Given the description of an element on the screen output the (x, y) to click on. 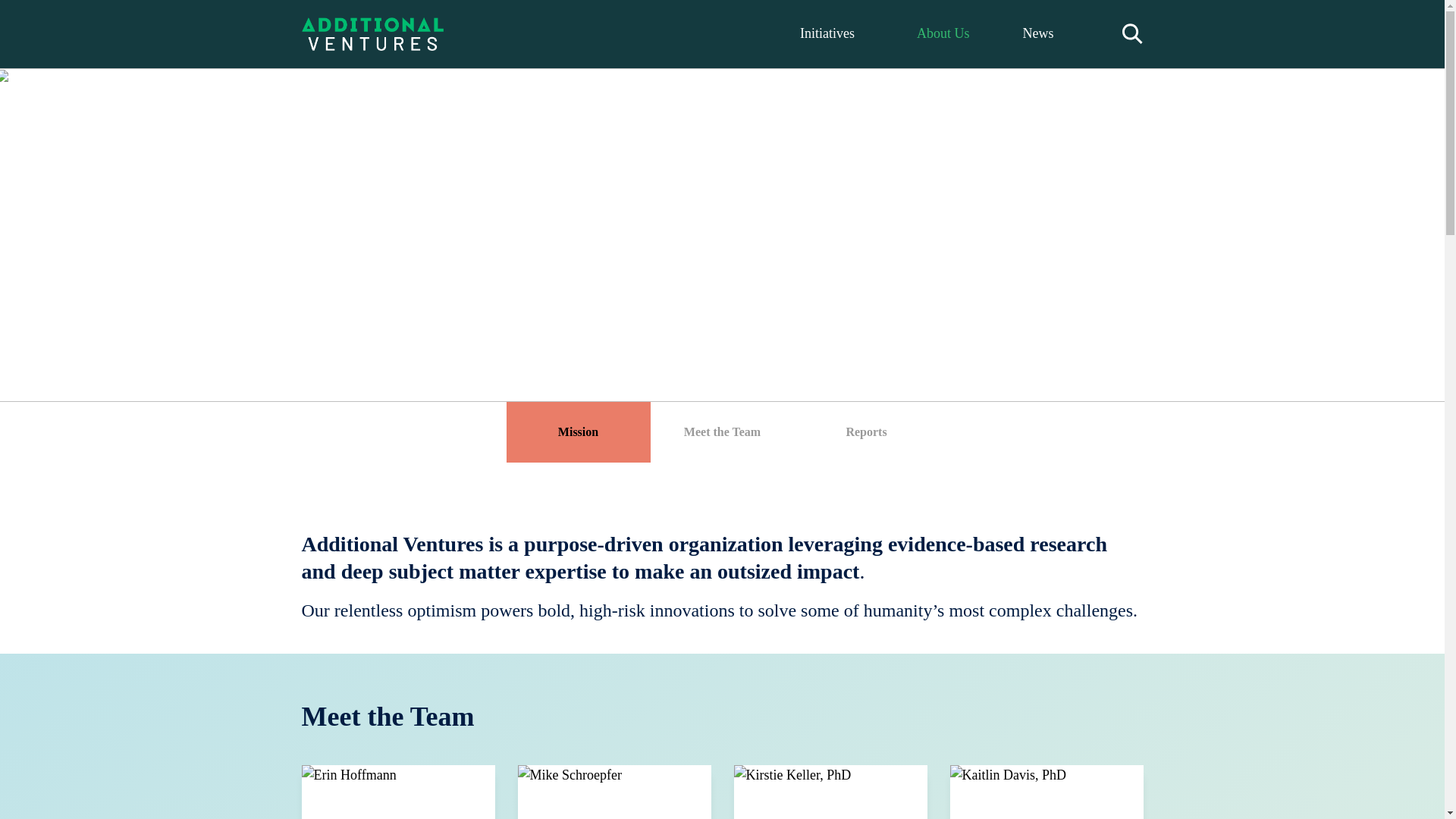
Reports (866, 432)
About Us (943, 34)
News (1037, 34)
Initiatives (831, 34)
Mission (578, 432)
Meet the Team (722, 432)
